Given the description of an element on the screen output the (x, y) to click on. 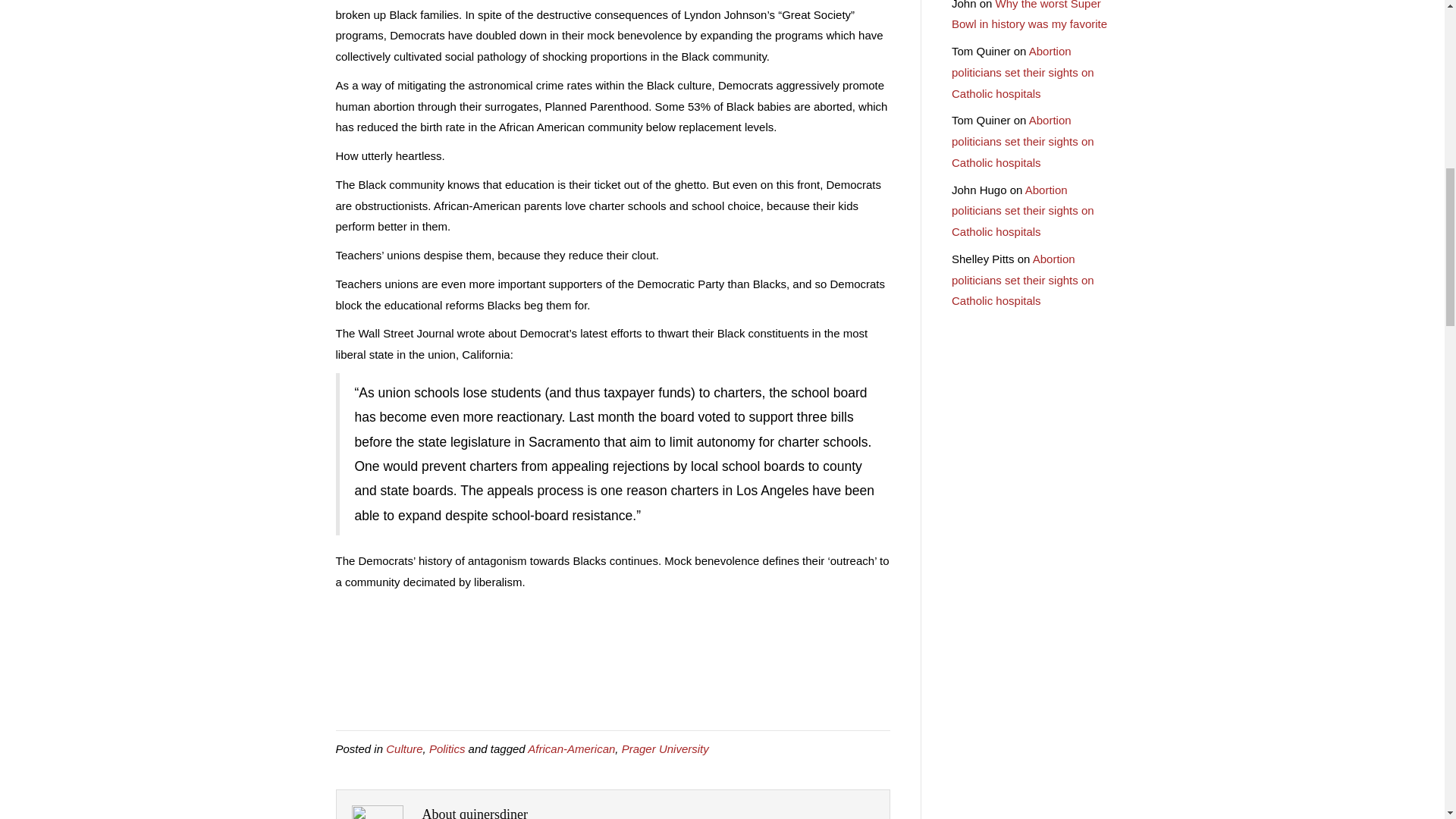
Culture (403, 748)
Abortion politicians set their sights on Catholic hospitals (1023, 140)
Abortion politicians set their sights on Catholic hospitals (1023, 211)
Prager University (665, 748)
Politics (447, 748)
African-American (570, 748)
Why the worst Super Bowl in history was my favorite (1029, 15)
Abortion politicians set their sights on Catholic hospitals (1023, 279)
Abortion politicians set their sights on Catholic hospitals (1023, 72)
